Given the description of an element on the screen output the (x, y) to click on. 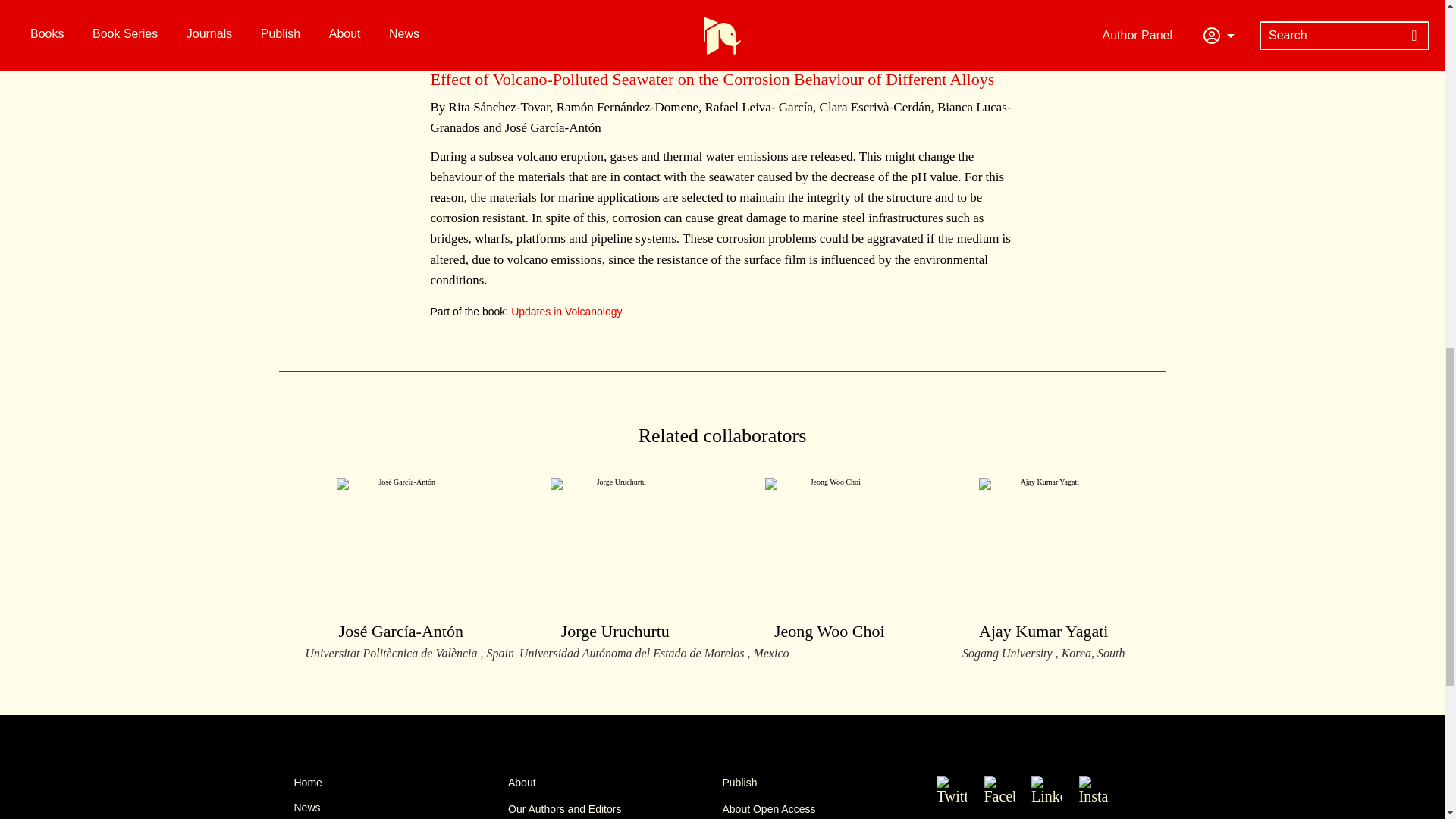
News (1043, 569)
Home (401, 807)
Jeong Woo Choi (401, 782)
Updates in Volcanology (829, 561)
